Given the description of an element on the screen output the (x, y) to click on. 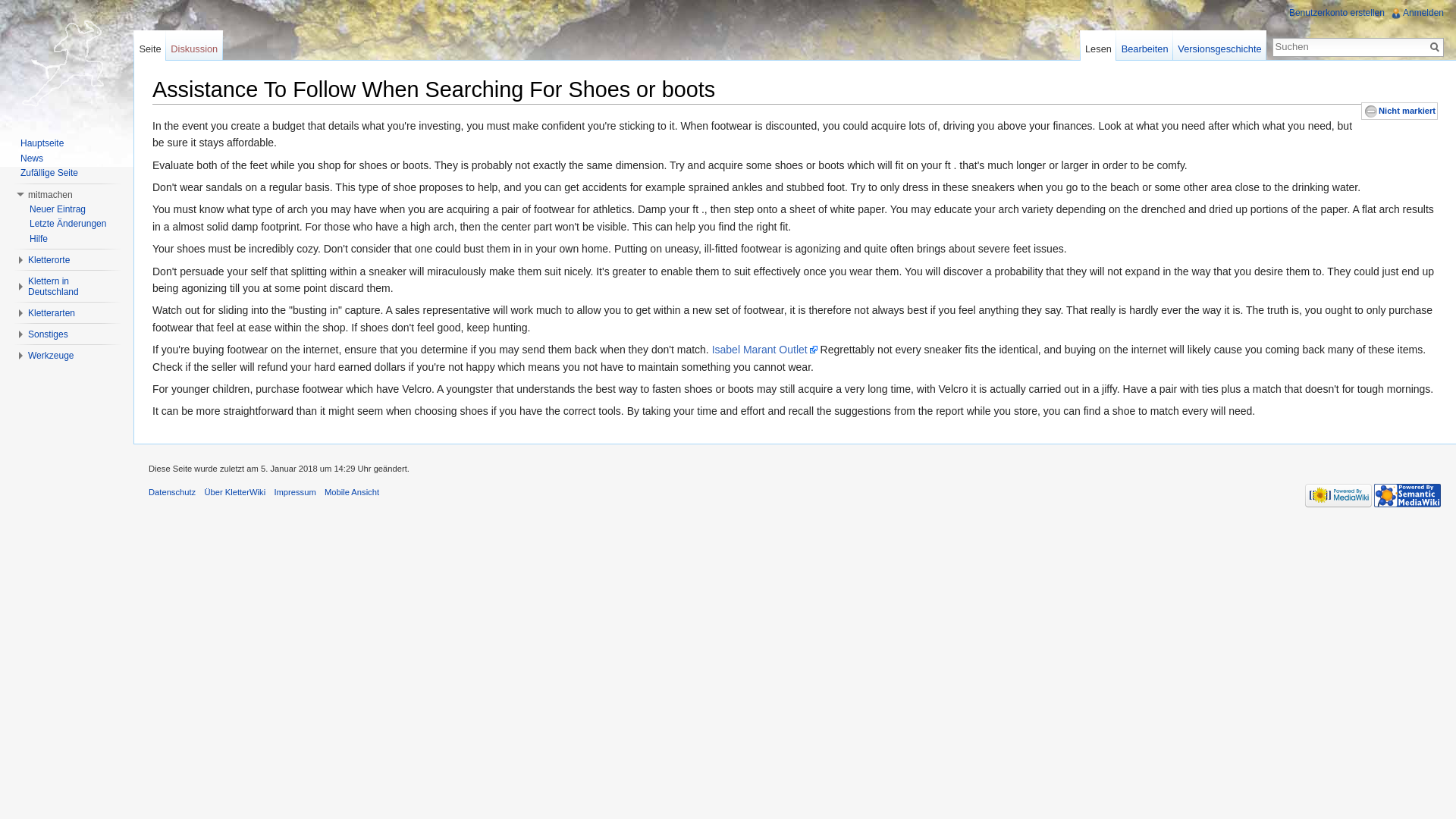
Hauptseite (42, 143)
Hilfe (38, 238)
Klettern in Deutschland (52, 286)
Kletterarten (51, 312)
Neuer Eintrag (57, 208)
Anmelden (1423, 12)
Diskussion (193, 45)
Seite (1434, 46)
Isabel Marant Outlet (763, 349)
News (31, 158)
Seite (1434, 46)
Hauptseite (66, 60)
Benutzerkonto erstellen (1336, 12)
Nicht markiert (1406, 110)
